Given the description of an element on the screen output the (x, y) to click on. 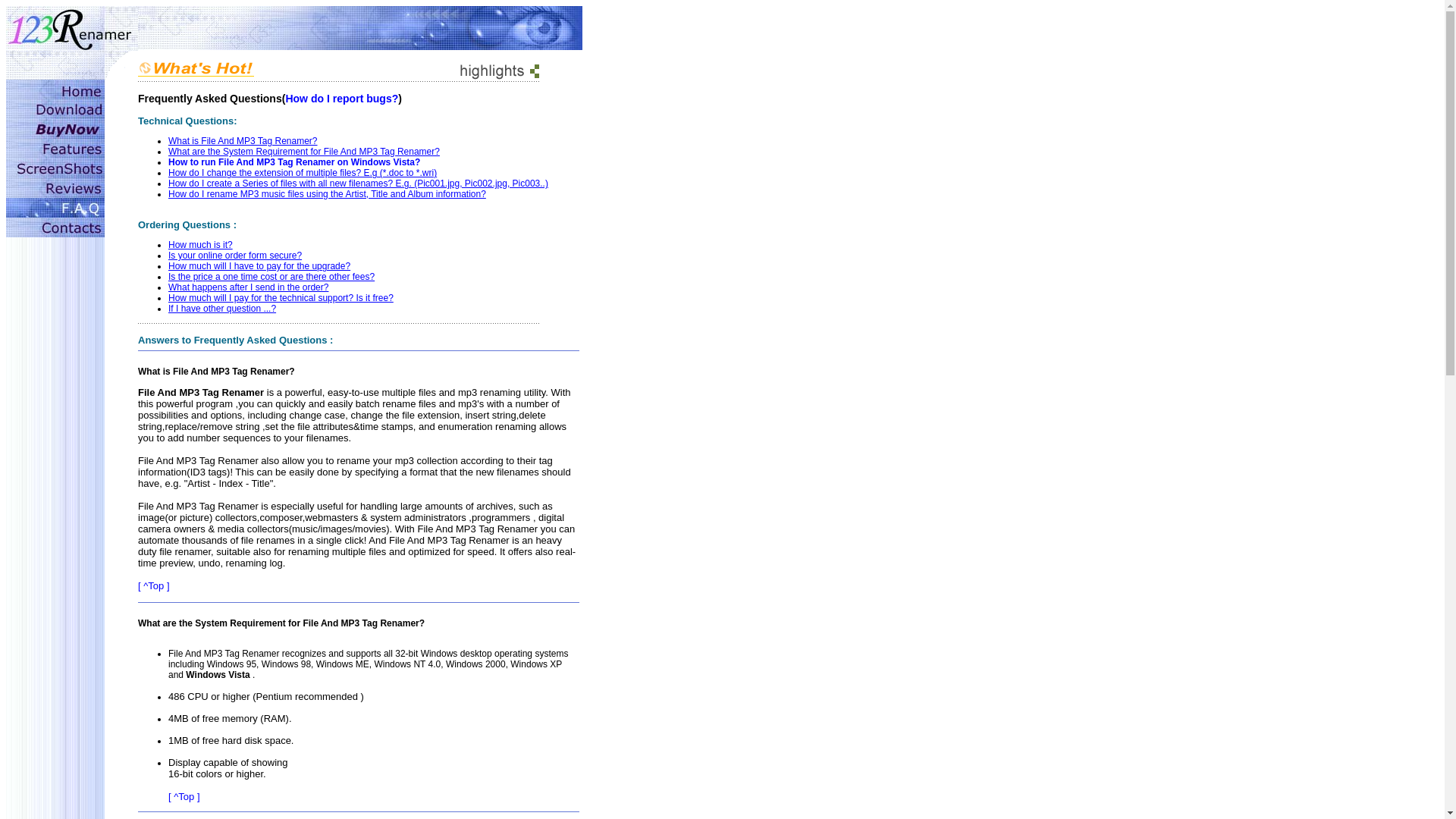
[ ^Top ] Element type: text (184, 796)
How do I report bugs? Element type: text (341, 98)
Is your online order form secure? Element type: text (234, 255)
[ ^Top ] Element type: text (153, 585)
If I have other question ...? Element type: text (222, 308)
How much will I have to pay for the upgrade? Element type: text (259, 265)
What is File And MP3 Tag Renamer? Element type: text (242, 140)
How much will I pay for the technical support? Is it free? Element type: text (280, 297)
Is the price a one time cost or are there other fees? Element type: text (271, 276)
How to run File And MP3 Tag Renamer on Windows Vista? Element type: text (294, 161)
What happens after I send in the order? Element type: text (248, 287)
How much is it? Element type: text (200, 244)
